Given the description of an element on the screen output the (x, y) to click on. 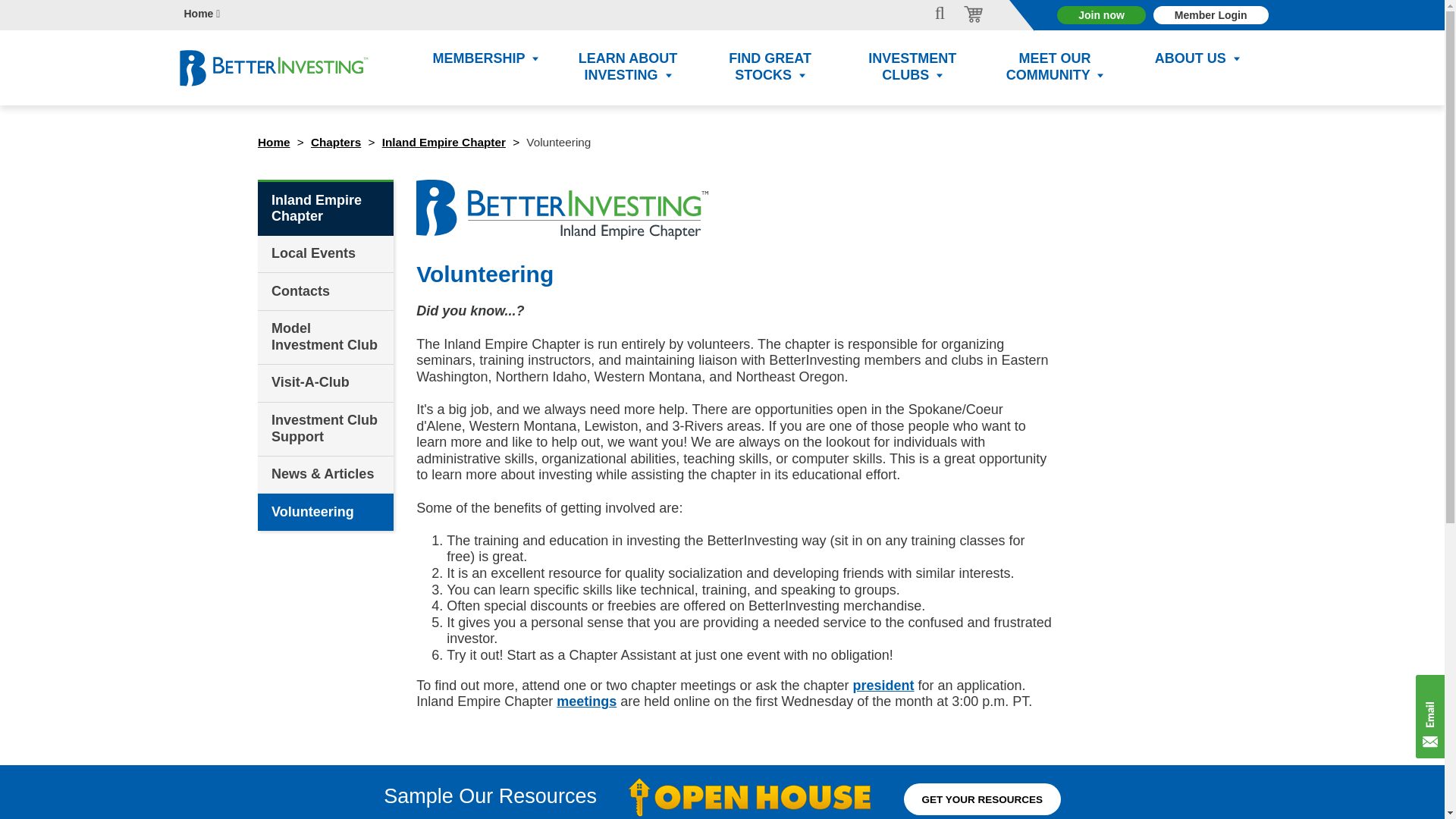
Home (201, 18)
Member Login (1210, 14)
Search (945, 13)
Home (201, 18)
Join now (1101, 14)
Shopping Cart (971, 13)
Chapters (336, 141)
Home (273, 141)
